Given the description of an element on the screen output the (x, y) to click on. 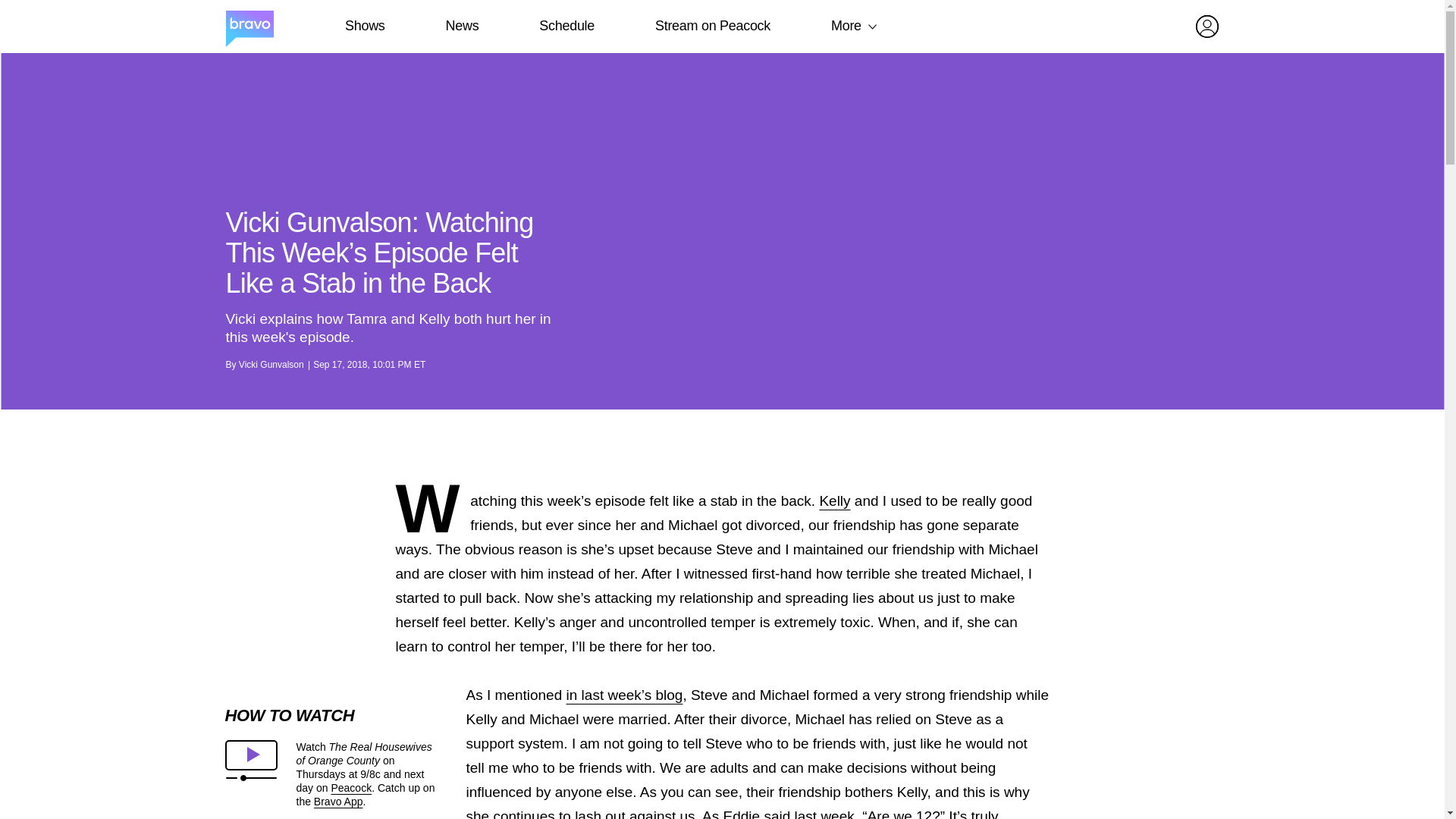
Bravo App (338, 801)
More (846, 26)
Kelly (834, 500)
Shows (363, 26)
Peacock (350, 787)
Vicki Gunvalson (271, 364)
Schedule (566, 26)
Stream on Peacock (712, 26)
News (462, 26)
Home (249, 26)
